Given the description of an element on the screen output the (x, y) to click on. 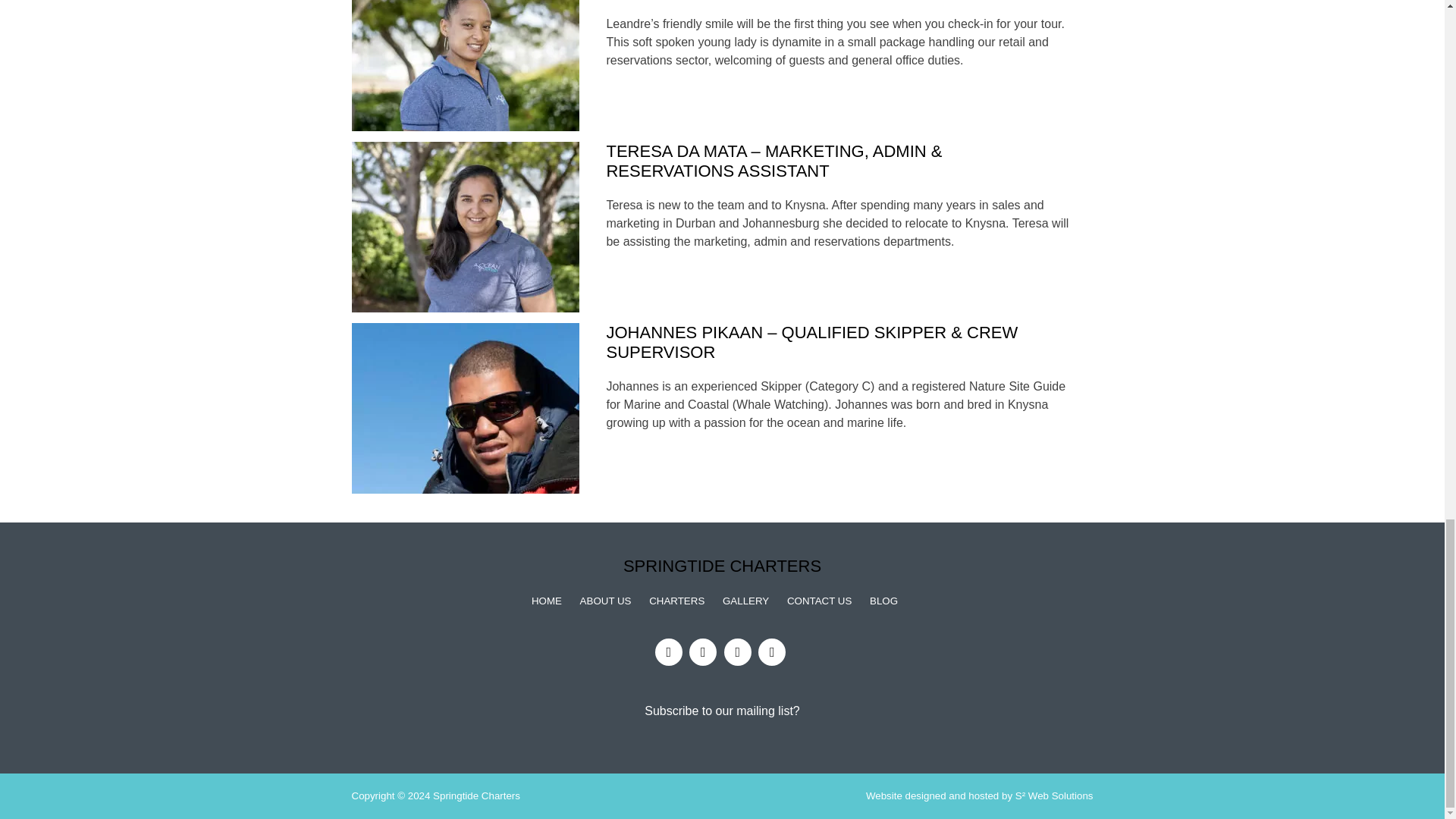
BLOG (883, 601)
S2 Web Solutions (1053, 795)
ABOUT US (605, 601)
Spring Tide Sailing Charters Knysna Trip Reviews (772, 651)
Spring Tide Sailing Charters Knysna on Instagram (702, 651)
Spring Tide Sailing Charters Knysna YouTube (737, 651)
CHARTERS (676, 601)
GALLERY (745, 601)
Spring Tide Sailing Charters Knysna on Facebook (668, 651)
CONTACT US (819, 601)
